Given the description of an element on the screen output the (x, y) to click on. 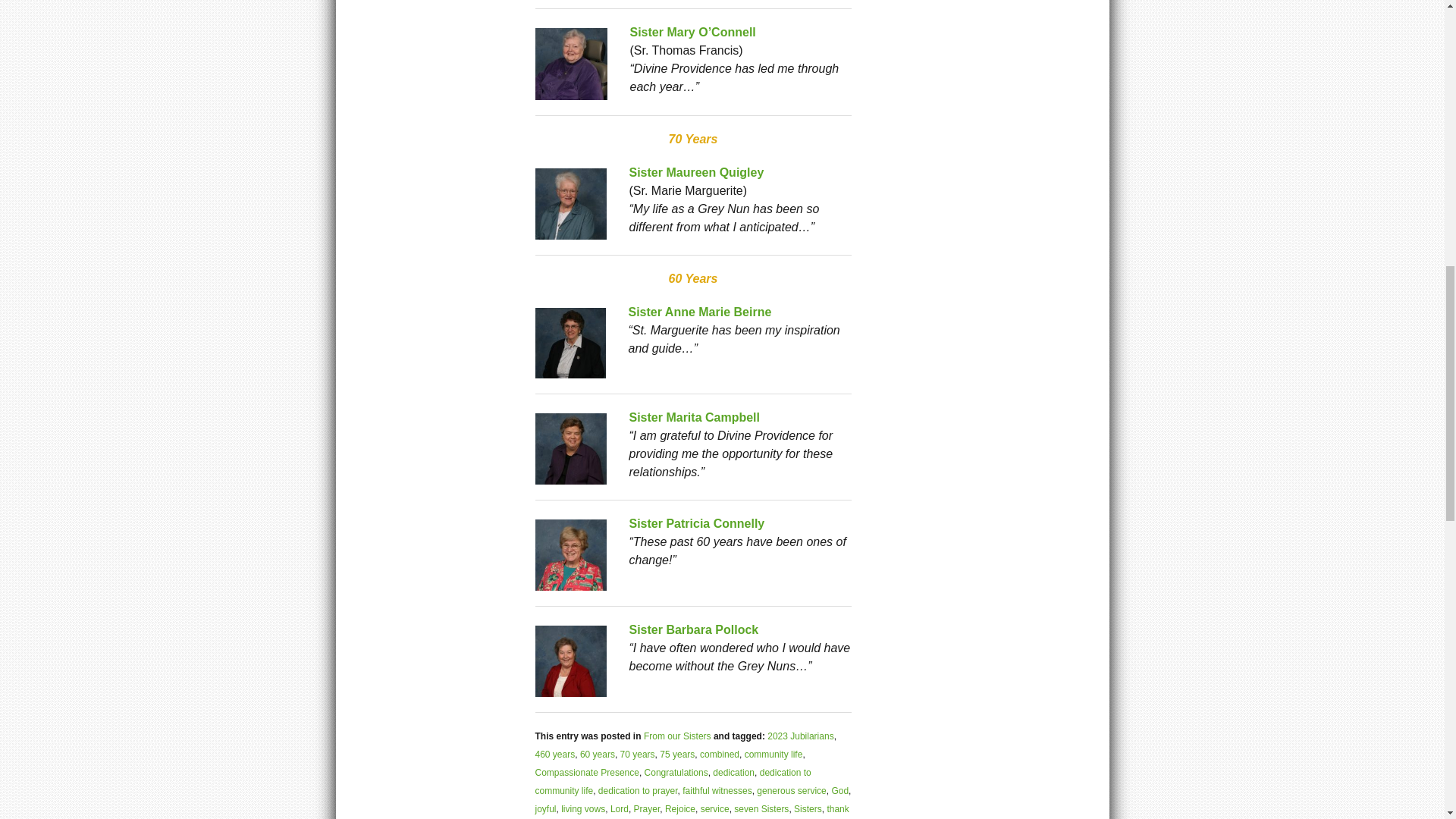
Sister Anne Marie Beirne (699, 311)
Sister Patricia Connelly (696, 522)
Sister Marita Campbell (694, 417)
Sister Maureen Quigley (696, 172)
